Given the description of an element on the screen output the (x, y) to click on. 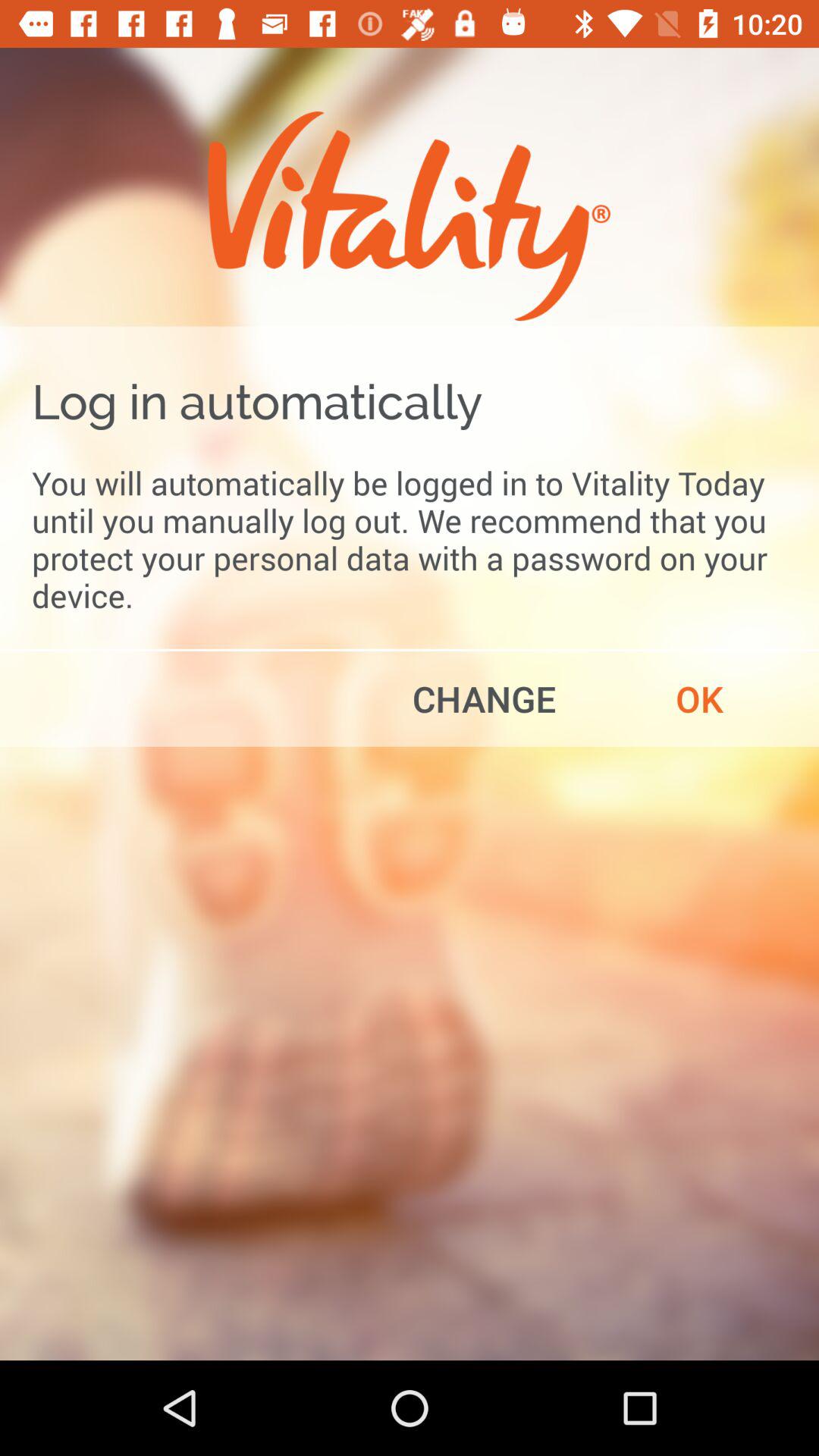
turn on the change icon (484, 698)
